Given the description of an element on the screen output the (x, y) to click on. 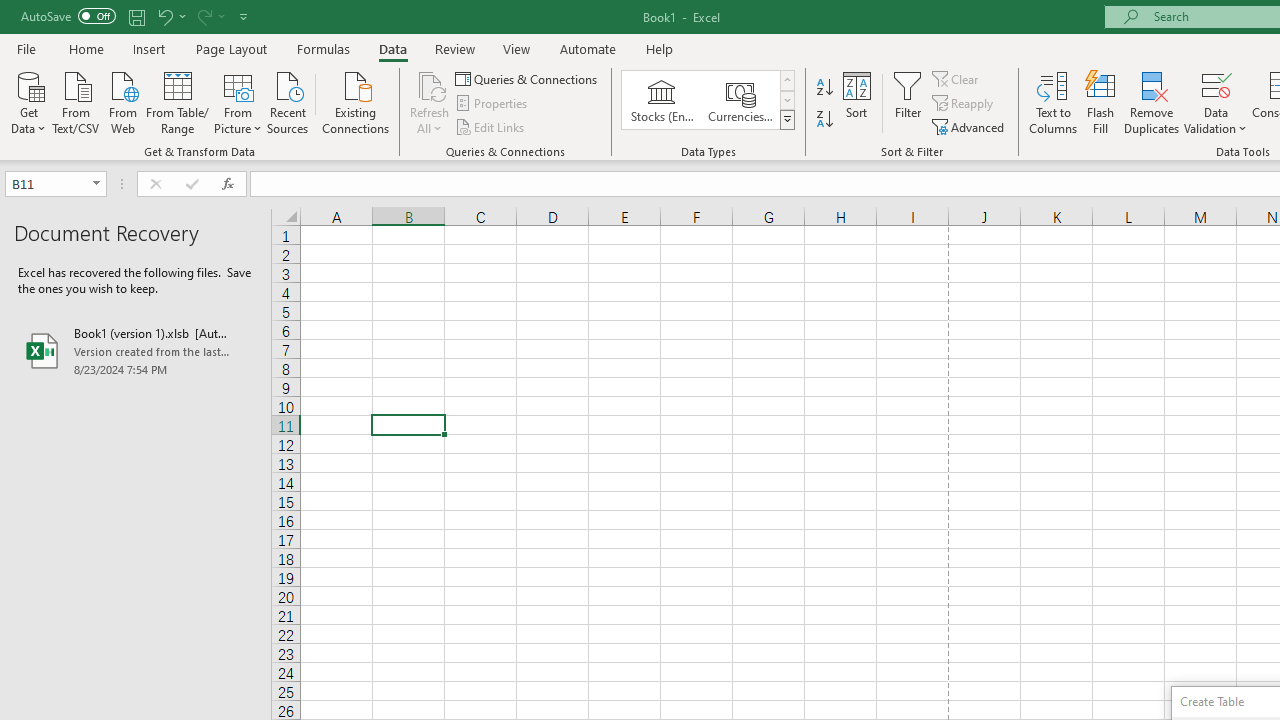
Quick Access Toolbar (136, 16)
Get Data (28, 101)
Book1 (version 1).xlsb  [AutoRecovered] (136, 350)
Recent Sources (287, 101)
Data Types (786, 120)
Undo (164, 15)
Name Box (46, 183)
From Text/CSV (75, 101)
Remove Duplicates (1151, 102)
Refresh All (429, 84)
Sort Z to A (824, 119)
Reapply (964, 103)
